Given the description of an element on the screen output the (x, y) to click on. 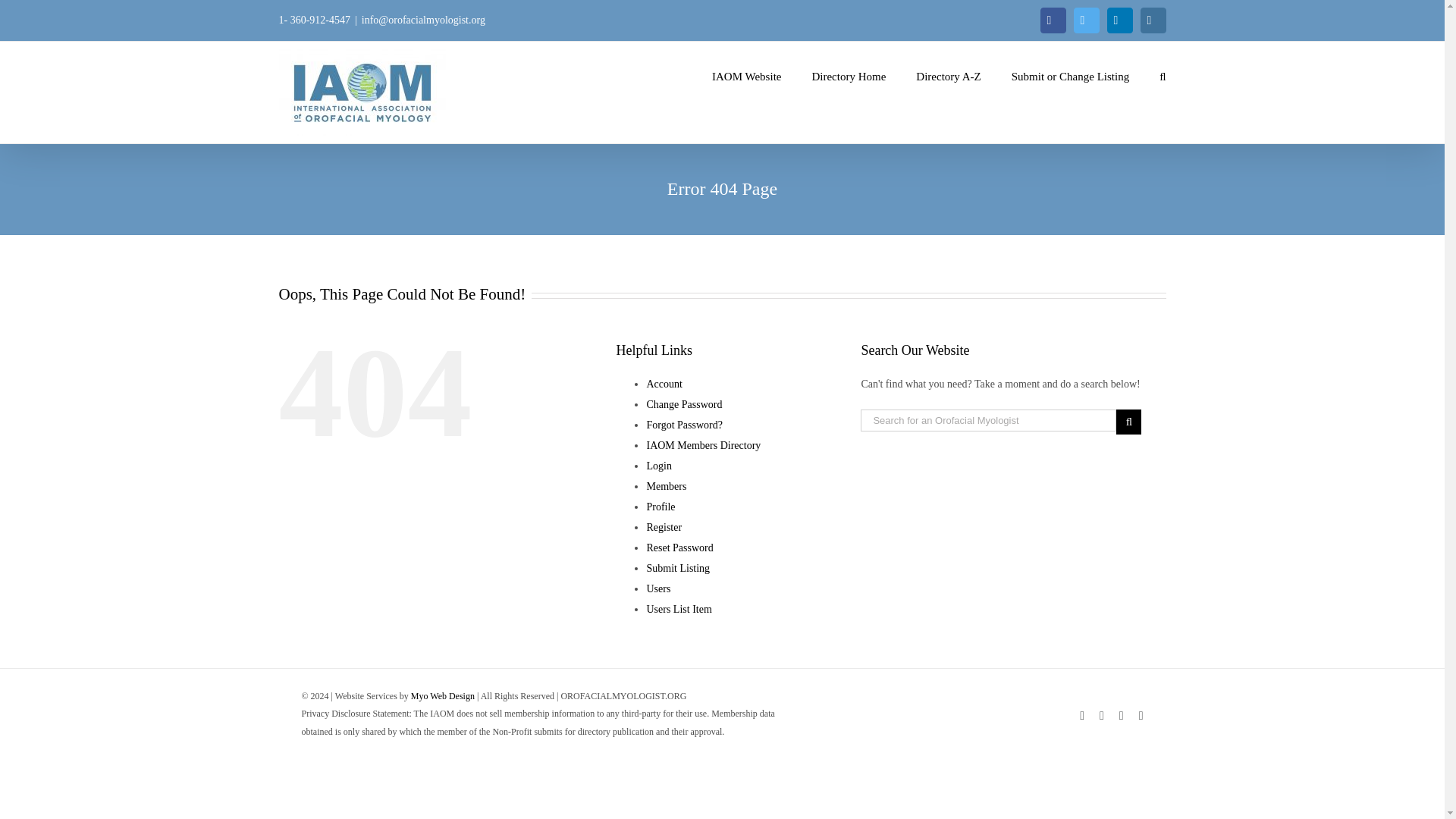
Twitter (1086, 20)
Login (658, 465)
Facebook (1053, 20)
Instagram (1153, 20)
Instagram (1153, 20)
Twitter (1086, 20)
Forgot Password? (684, 424)
Account (663, 383)
Linkedin (1119, 20)
Facebook (1053, 20)
